Given the description of an element on the screen output the (x, y) to click on. 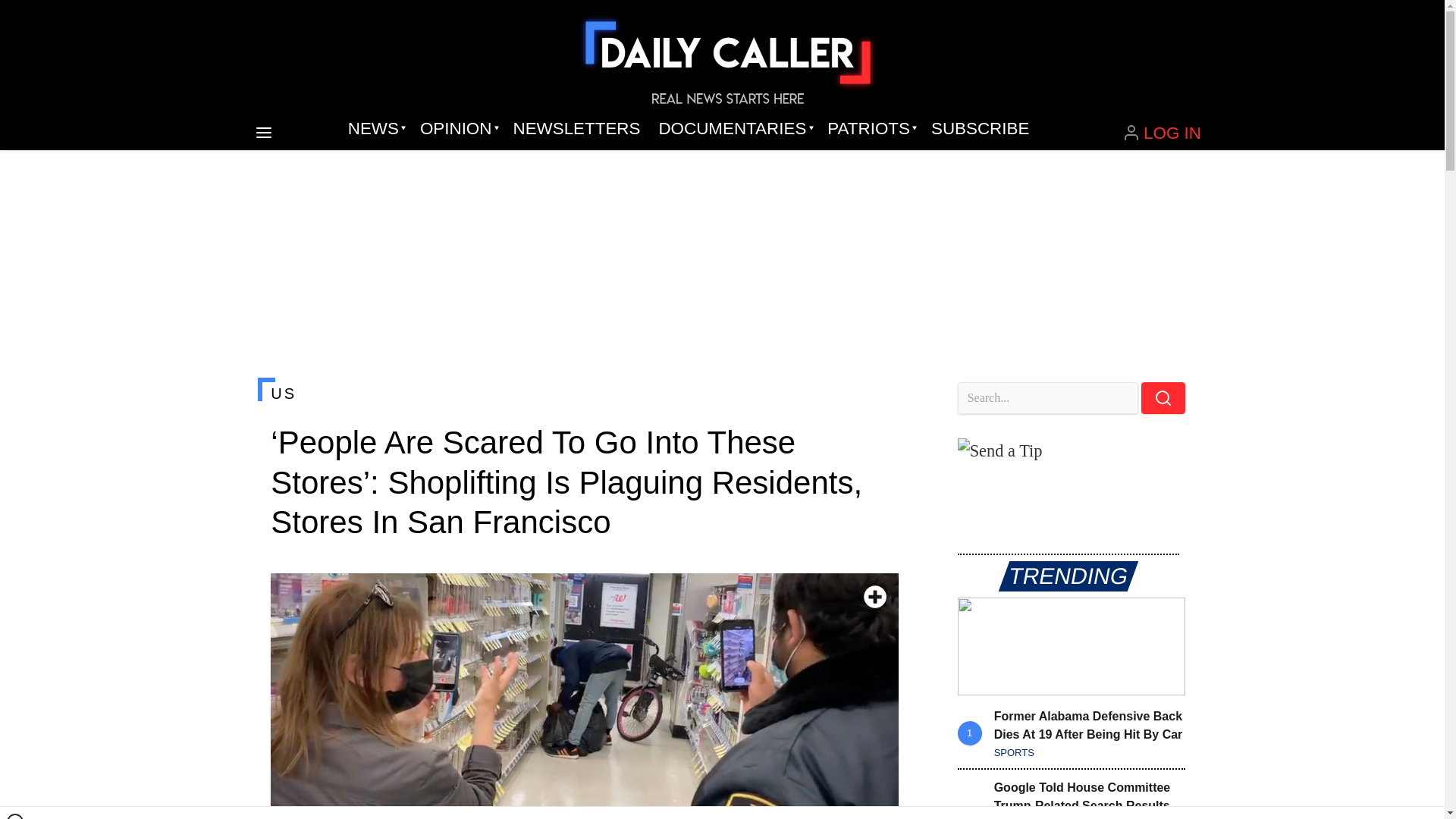
DOCUMENTARIES (733, 128)
Toggle fullscreen (874, 596)
US (584, 393)
NEWSLETTERS (576, 128)
PATRIOTS (869, 128)
Close window (14, 816)
NEWS (374, 128)
OPINION (456, 128)
SUBSCRIBE (979, 128)
